Given the description of an element on the screen output the (x, y) to click on. 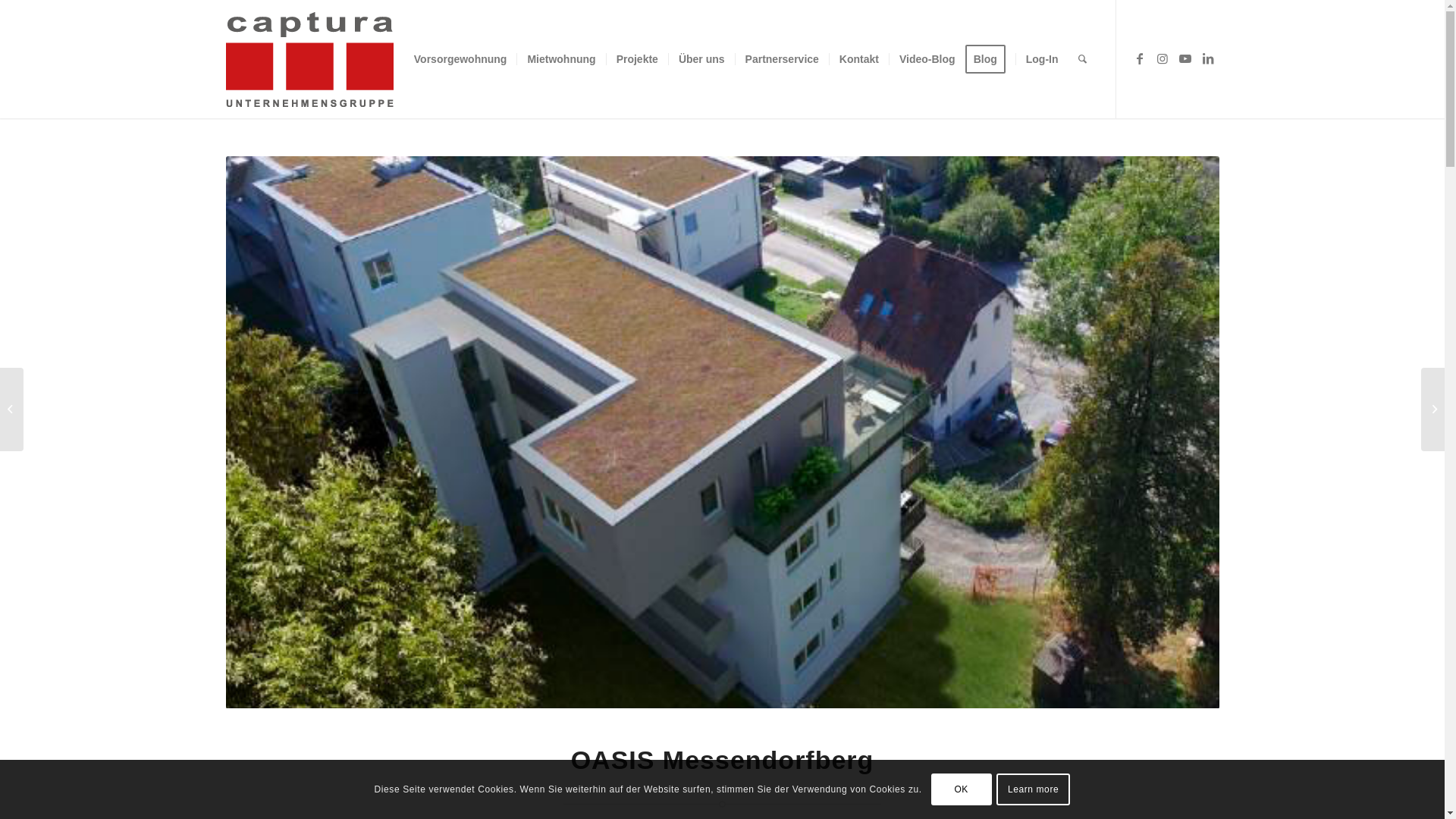
Projekte Element type: text (636, 59)
Learn more Element type: text (1033, 789)
Mietwohnung Element type: text (560, 59)
Log-In Element type: text (1041, 59)
Vorsorgewohnung Element type: text (460, 59)
captura-Logo Element type: hover (354, 59)
LinkedIn Element type: hover (1207, 58)
Partnerservice Element type: text (781, 59)
Youtube Element type: hover (1184, 58)
Instagram Element type: hover (1162, 58)
OK Element type: text (961, 789)
Blog Element type: text (990, 59)
Kontakt Element type: text (858, 59)
Video-Blog Element type: text (926, 59)
Facebook Element type: hover (1139, 58)
